Given the description of an element on the screen output the (x, y) to click on. 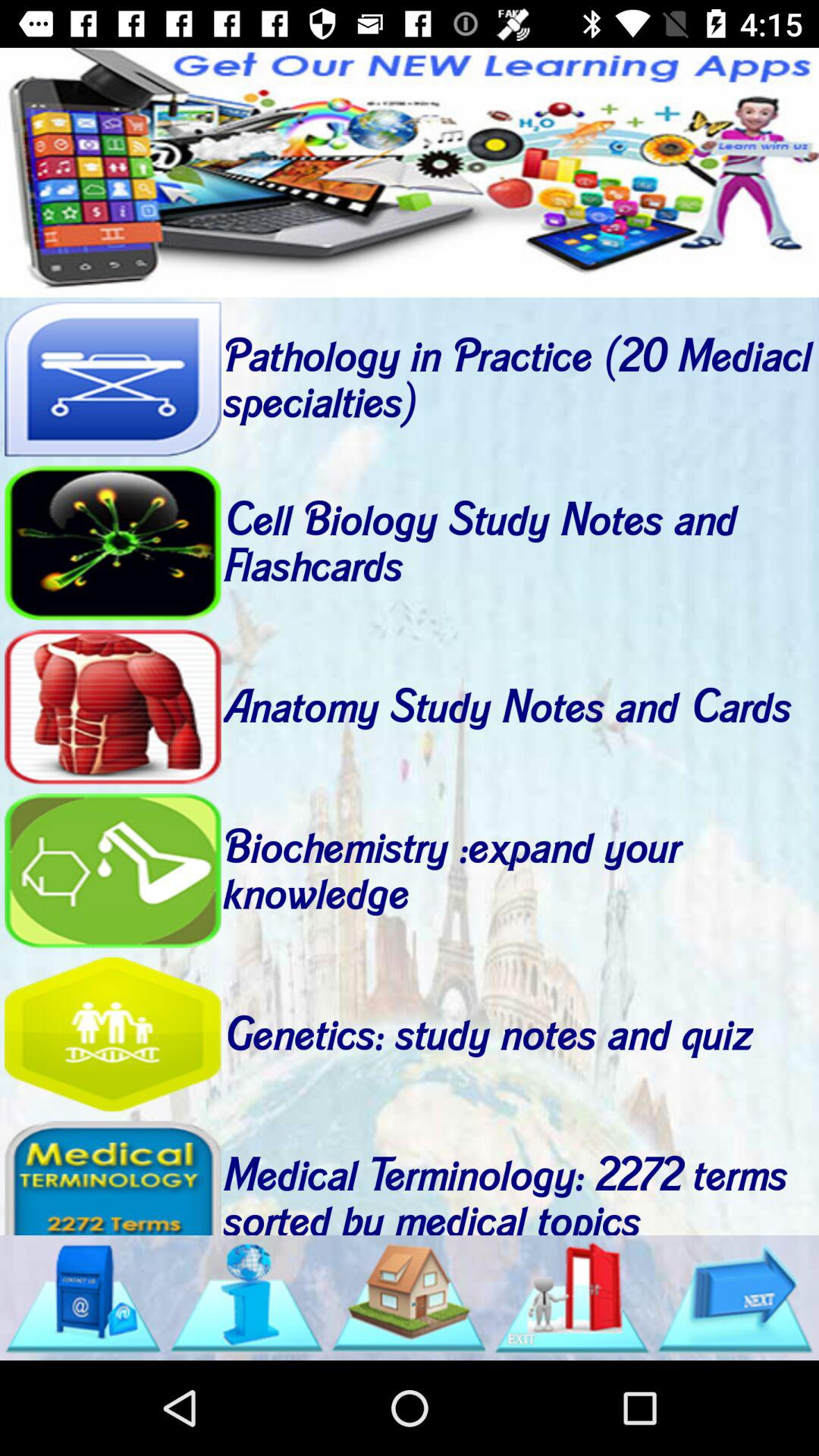
shows information (245, 1297)
